Given the description of an element on the screen output the (x, y) to click on. 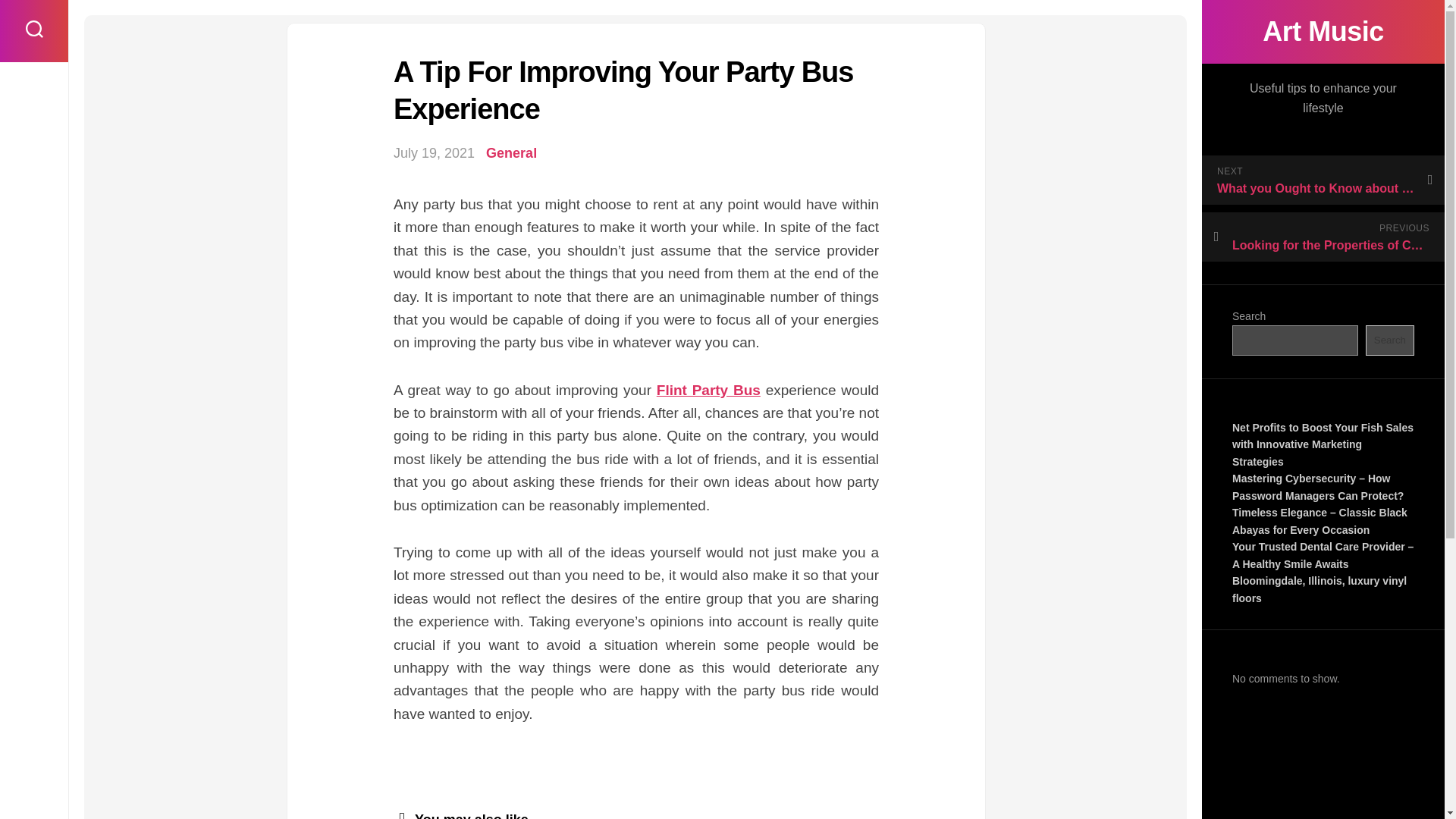
Search (1389, 340)
Art Music (1322, 31)
Bloomingdale, Illinois, luxury vinyl floors (1318, 589)
Flint Party Bus (708, 390)
General (511, 152)
